Given the description of an element on the screen output the (x, y) to click on. 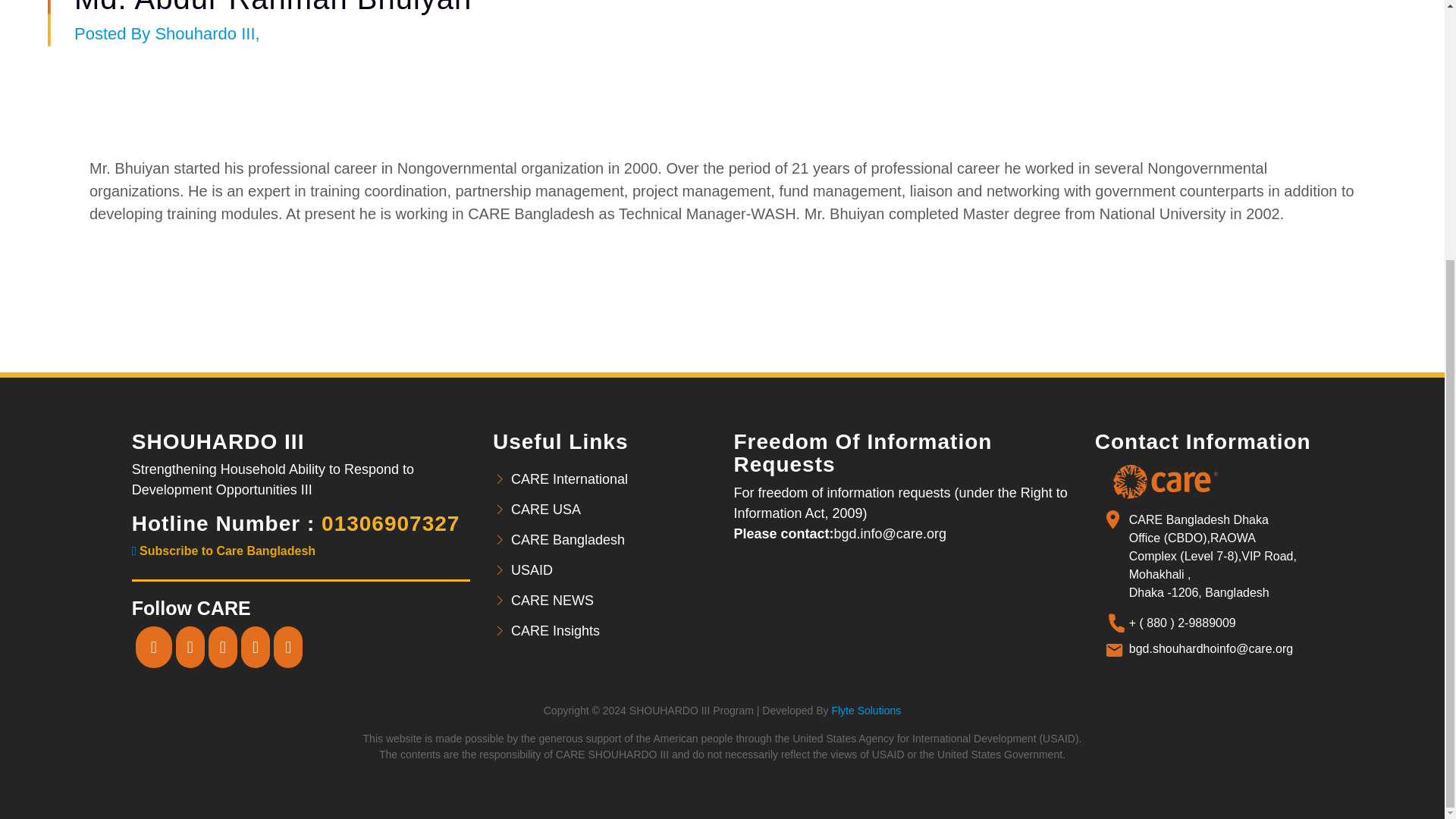
Flyte Solutions (866, 710)
USAID (611, 570)
CARE USA (611, 509)
CARE Bangladesh (611, 539)
Subscribe to Care Bangladesh (223, 550)
CARE Insights (611, 630)
CARE International (611, 479)
CARE NEWS (611, 600)
